Given the description of an element on the screen output the (x, y) to click on. 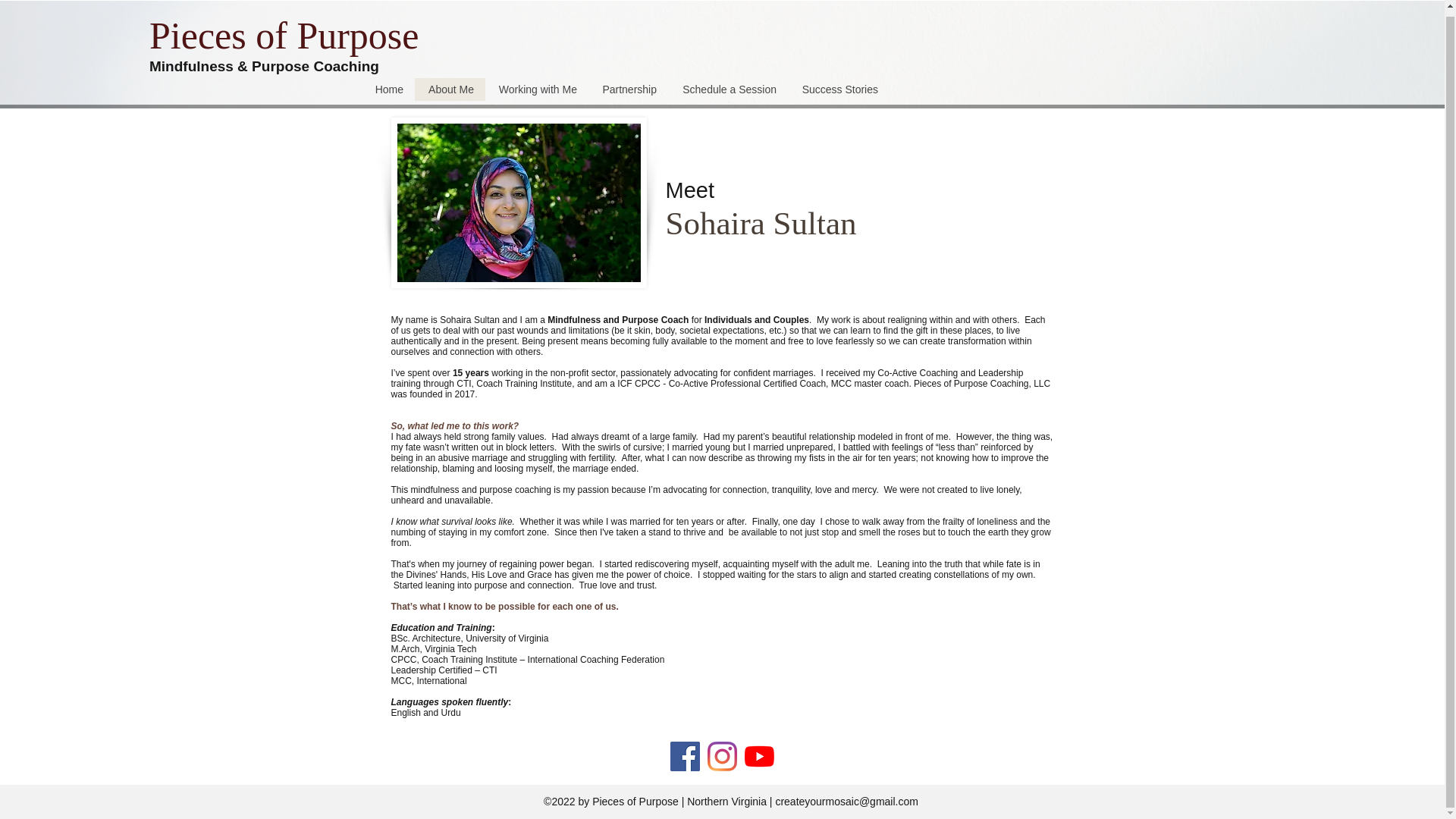
Pieces of Purpose  (288, 30)
Success Stories (838, 83)
Schedule a Session (727, 83)
Working with Me (536, 83)
Partnership (628, 83)
About Me (449, 83)
Home (388, 83)
